Given the description of an element on the screen output the (x, y) to click on. 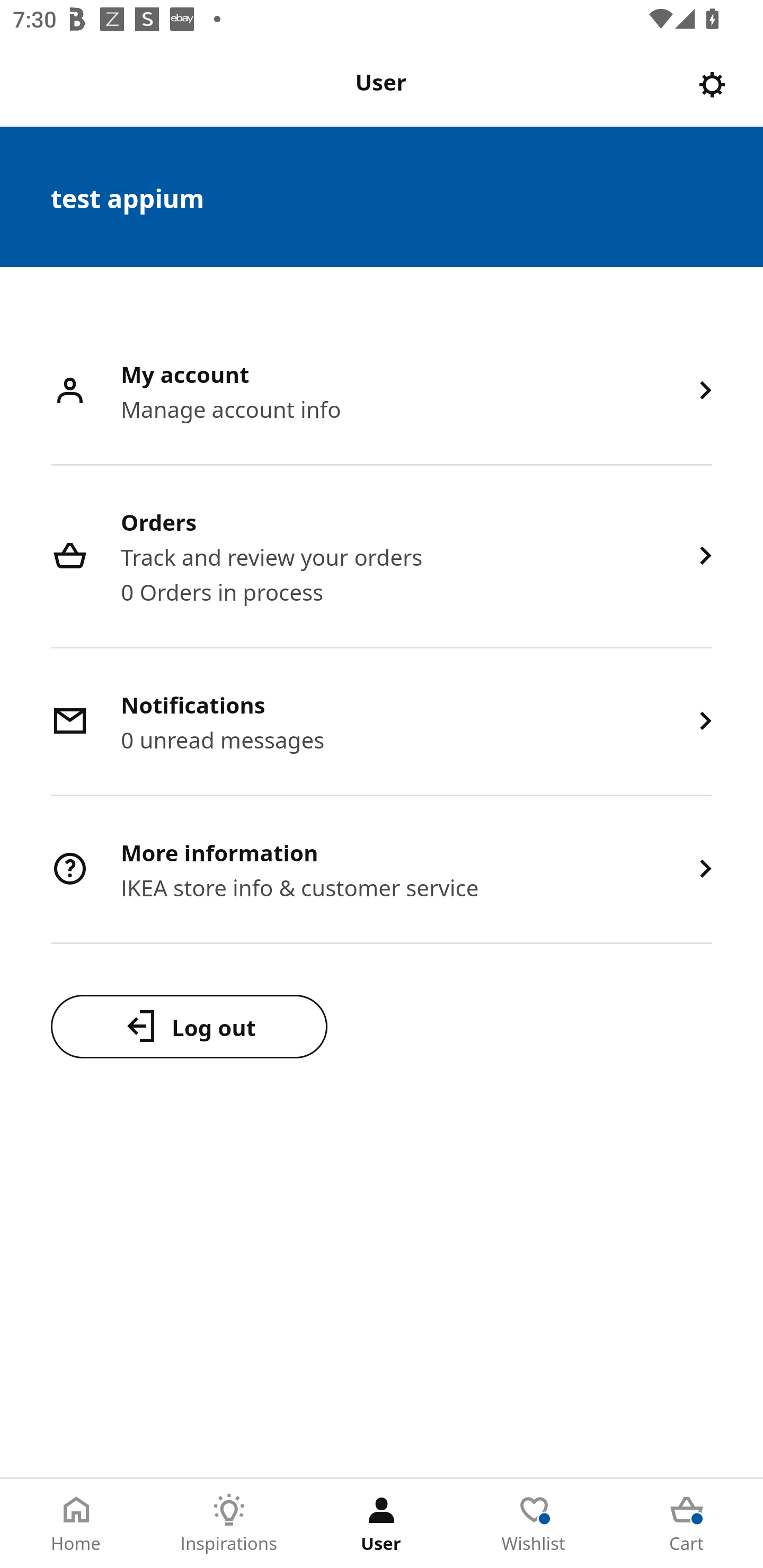
My account
Manage account info (381, 391)
Notifications
0 unread messages (381, 722)
Log out (189, 1026)
Home
Tab 1 of 5 (76, 1522)
Inspirations
Tab 2 of 5 (228, 1522)
User
Tab 3 of 5 (381, 1522)
Wishlist
Tab 4 of 5 (533, 1522)
Cart
Tab 5 of 5 (686, 1522)
